Given the description of an element on the screen output the (x, y) to click on. 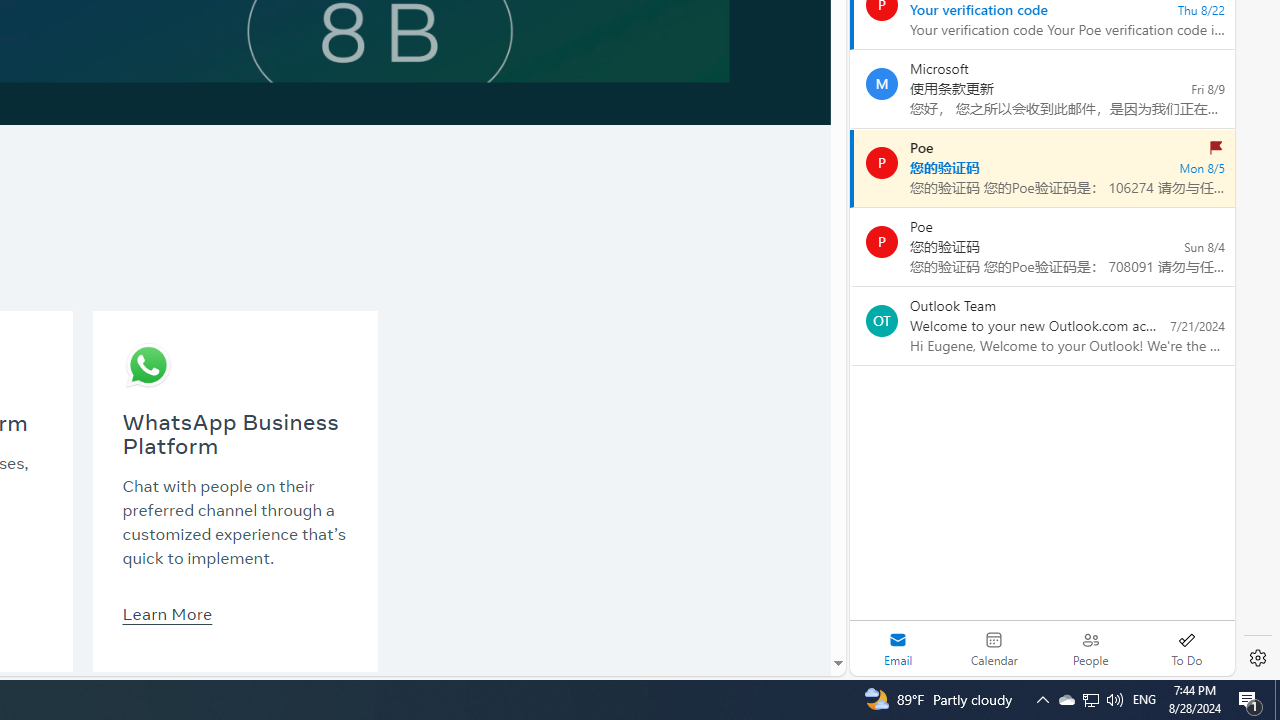
Settings (1258, 658)
Learn More (166, 613)
Calendar. Date today is 28 (994, 648)
To Do (1186, 648)
People (1090, 648)
Selected mail module (898, 648)
